Given the description of an element on the screen output the (x, y) to click on. 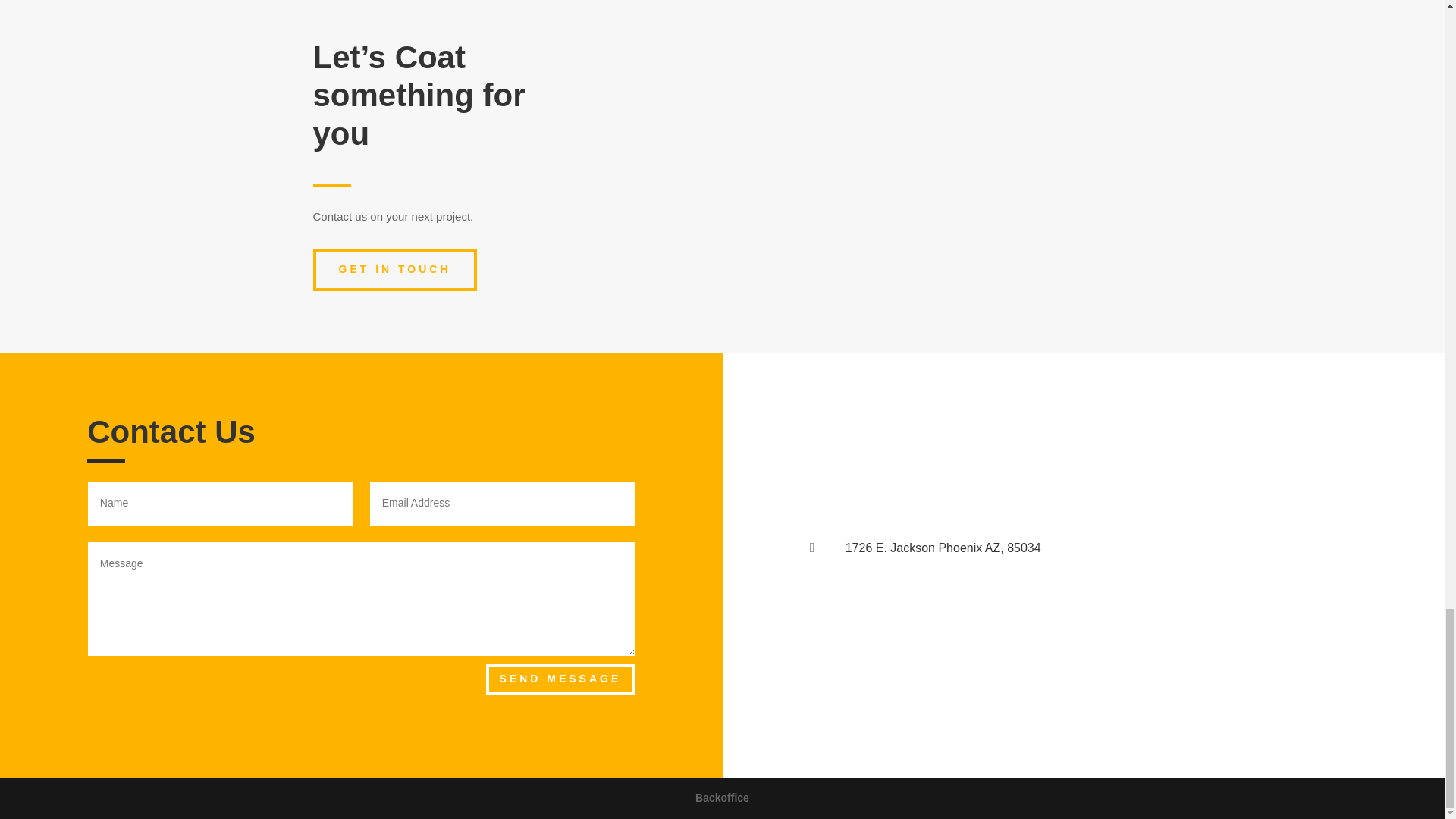
Backoffice (722, 797)
GET IN TOUCH (394, 269)
1726 E. Jackson Phoenix AZ, 85034 (943, 547)
SEND MESSAGE (559, 679)
